Given the description of an element on the screen output the (x, y) to click on. 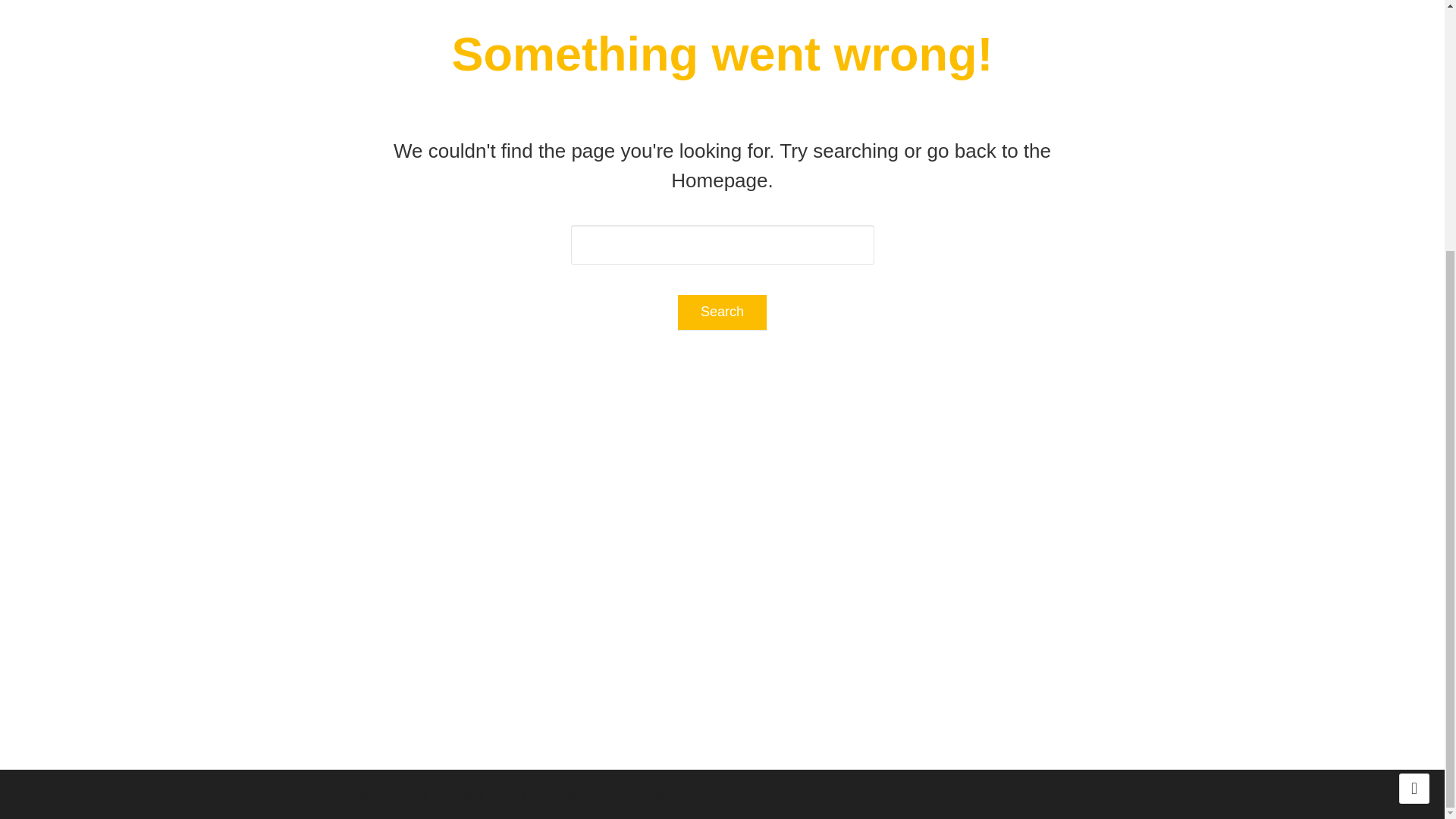
About Us (304, 794)
Search (722, 312)
Contact Us (363, 794)
Terms And Conditions (548, 794)
Email Whitelisting (442, 794)
Privacy Policy (644, 794)
